Given the description of an element on the screen output the (x, y) to click on. 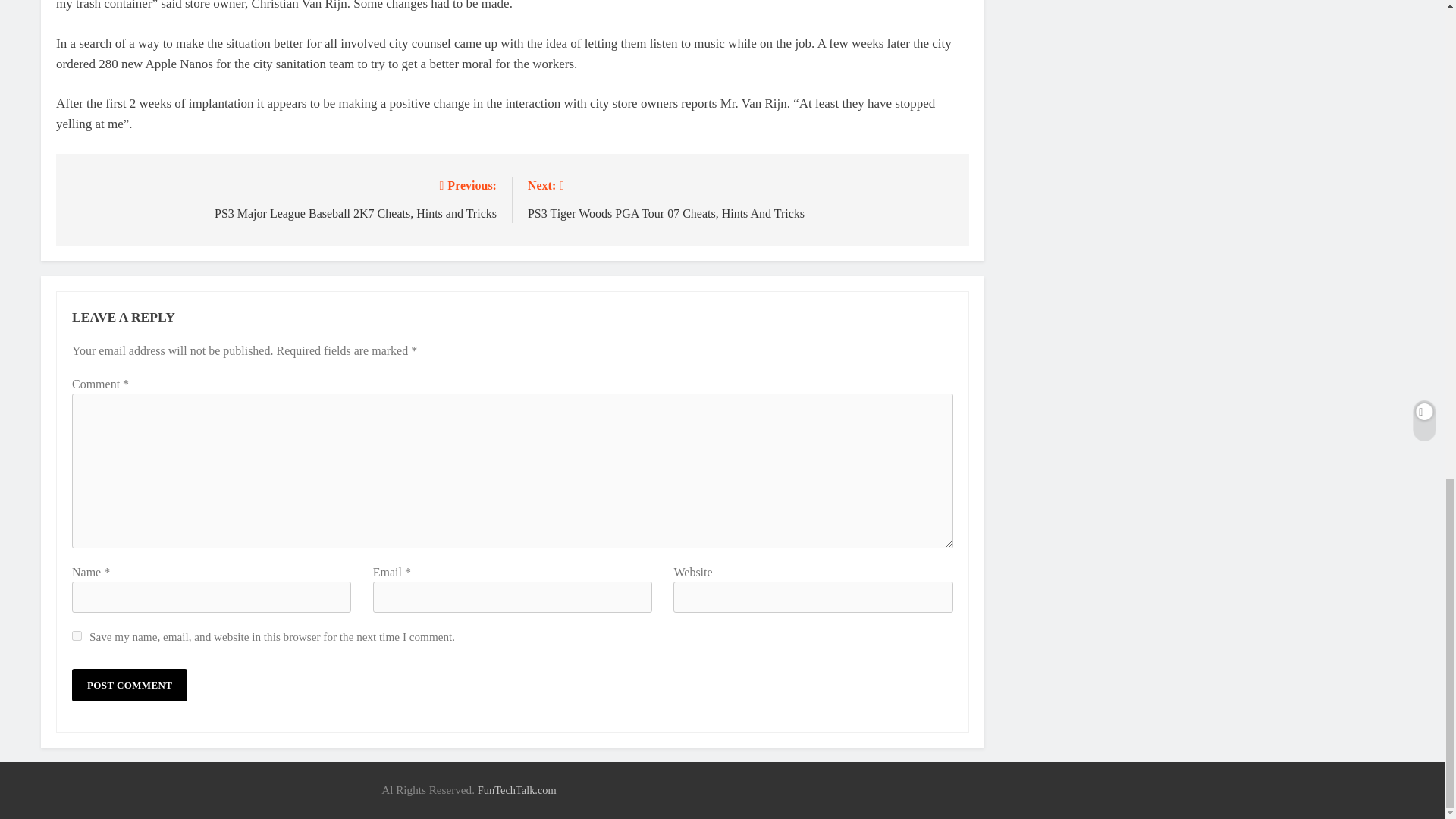
Post Comment (129, 685)
yes (76, 635)
